Given the description of an element on the screen output the (x, y) to click on. 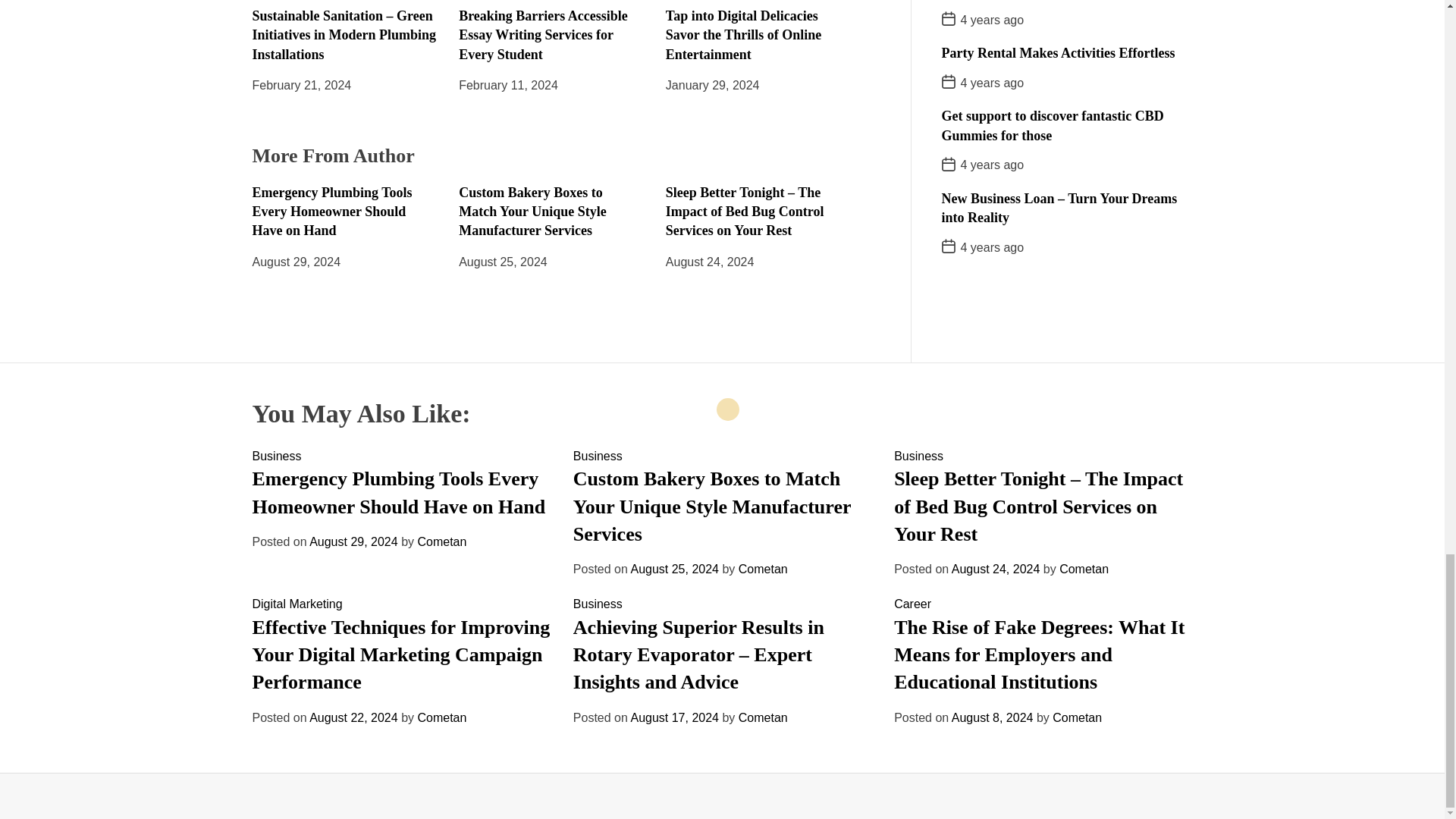
Emergency Plumbing Tools Every Homeowner Should Have on Hand (331, 211)
